Given the description of an element on the screen output the (x, y) to click on. 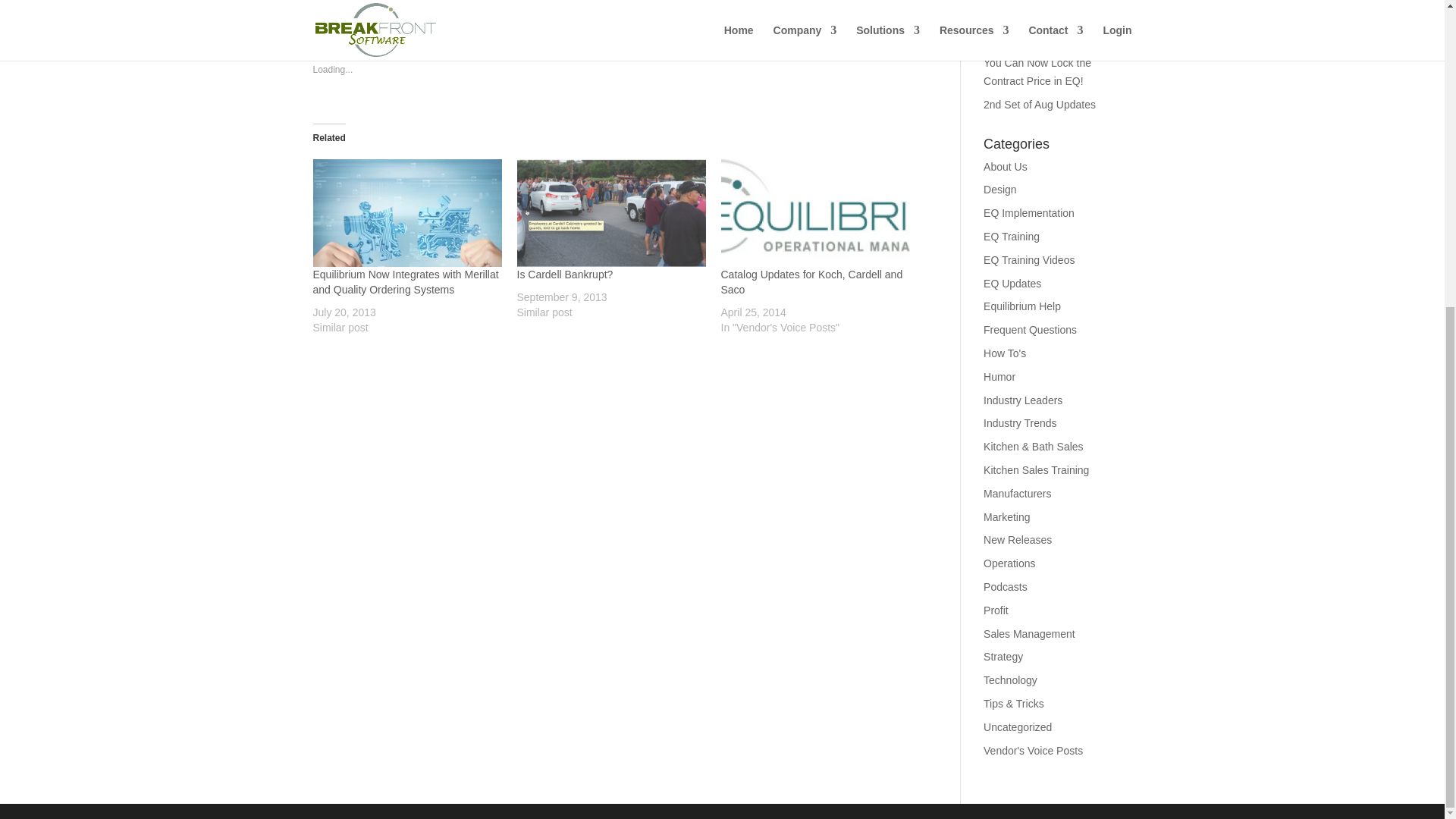
Is Cardell Bankrupt? (564, 274)
Share (342, 1)
Is Cardell Bankrupt? (611, 212)
